Given the description of an element on the screen output the (x, y) to click on. 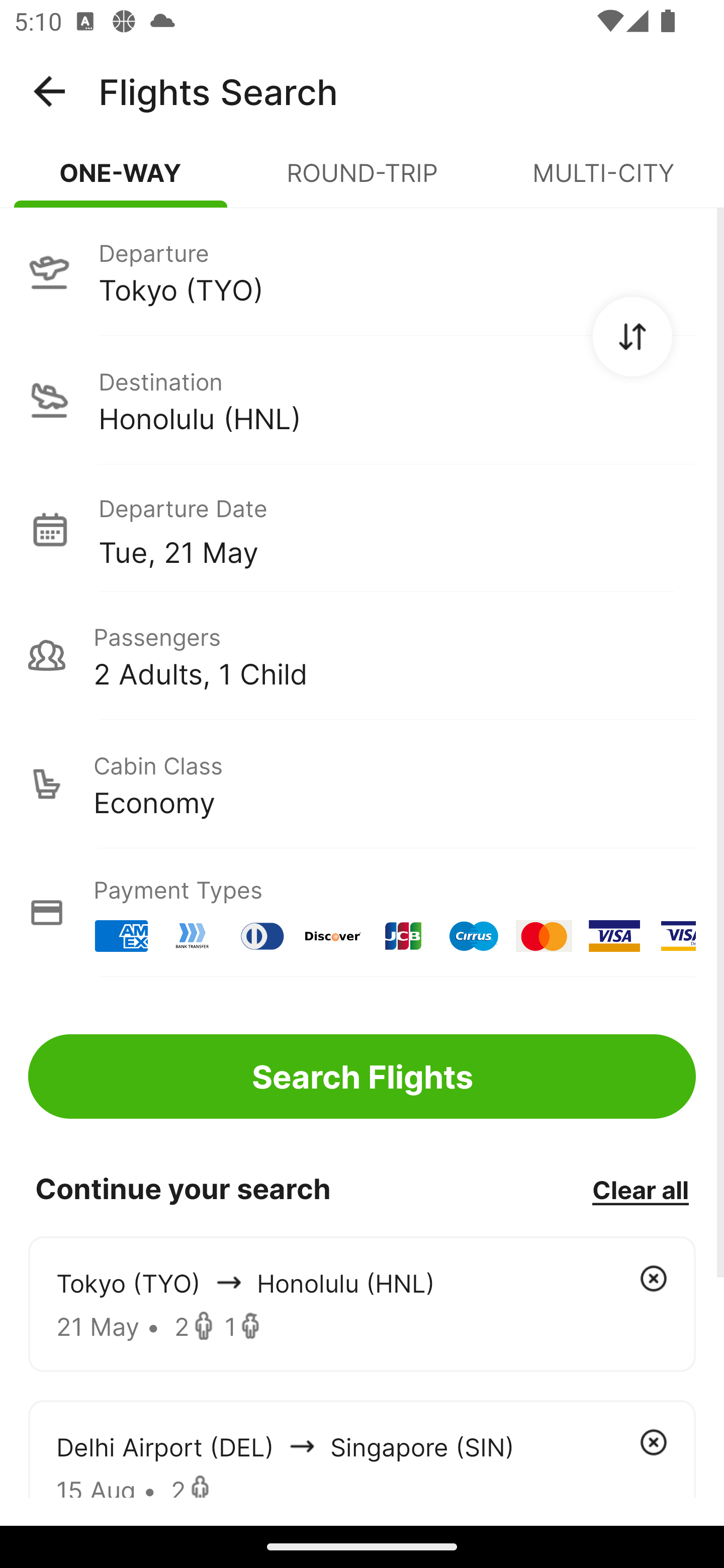
ONE-WAY (120, 180)
ROUND-TRIP (361, 180)
MULTI-CITY (603, 180)
Departure Tokyo (TYO) (362, 270)
Destination Honolulu (HNL) (362, 400)
Departure Date Tue, 21 May (396, 528)
Passengers 2 Adults, 1 Child (362, 655)
Cabin Class Economy (362, 783)
Payment Types (362, 912)
Search Flights (361, 1075)
Clear all (640, 1189)
